Given the description of an element on the screen output the (x, y) to click on. 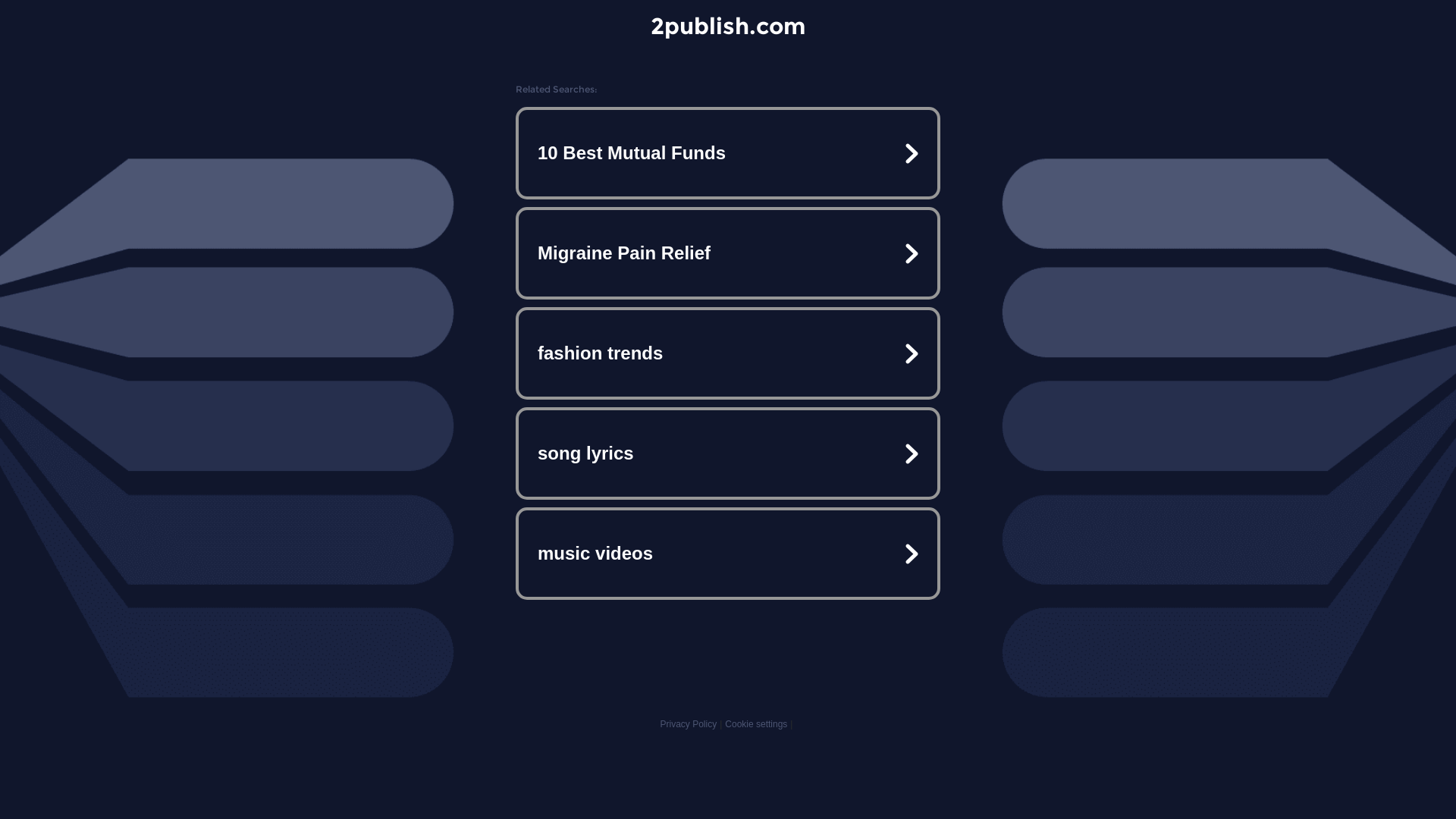
Migraine Pain Relief Element type: text (727, 253)
music videos Element type: text (727, 553)
Cookie settings Element type: text (755, 723)
fashion trends Element type: text (727, 353)
song lyrics Element type: text (727, 453)
Privacy Policy Element type: text (687, 723)
10 Best Mutual Funds Element type: text (727, 152)
2publish.com Element type: text (727, 26)
